Given the description of an element on the screen output the (x, y) to click on. 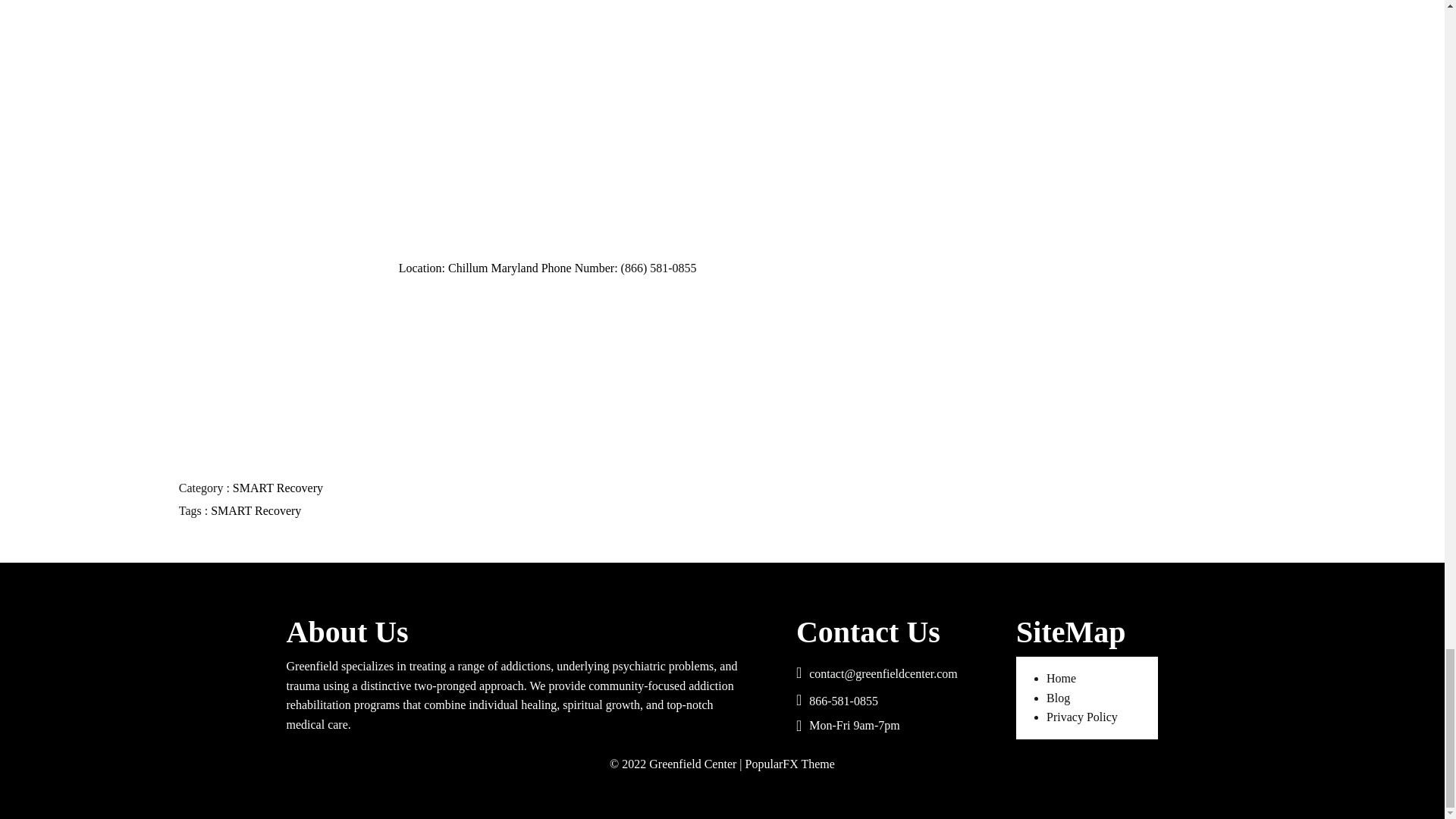
Privacy Policy (1082, 716)
YouTube video player (570, 120)
PopularFX Theme (789, 763)
Blog (1058, 697)
SMART Recovery (256, 510)
SMART Recovery (277, 487)
Home (1060, 677)
